Given the description of an element on the screen output the (x, y) to click on. 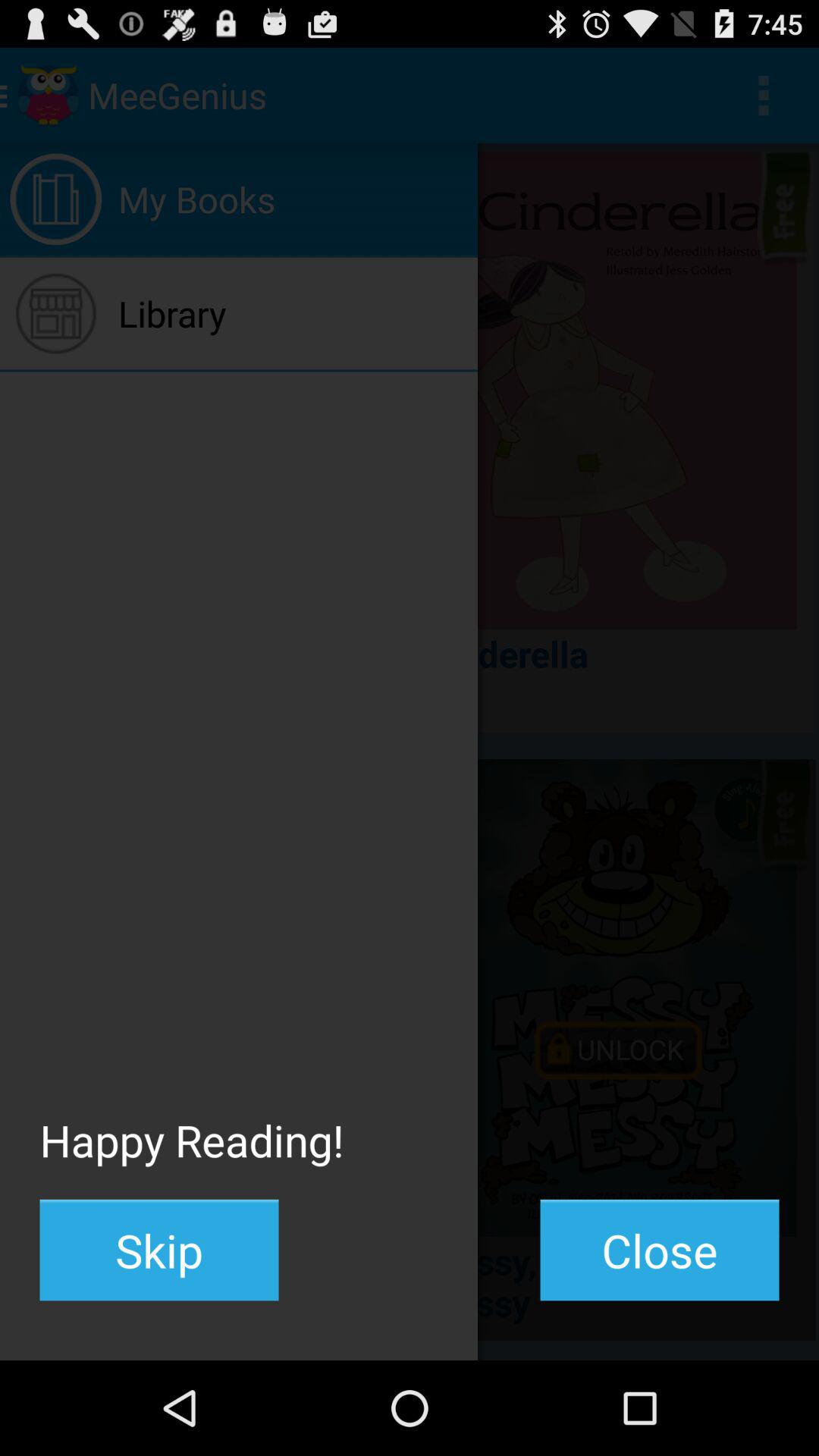
scroll to the close item (659, 1249)
